Given the description of an element on the screen output the (x, y) to click on. 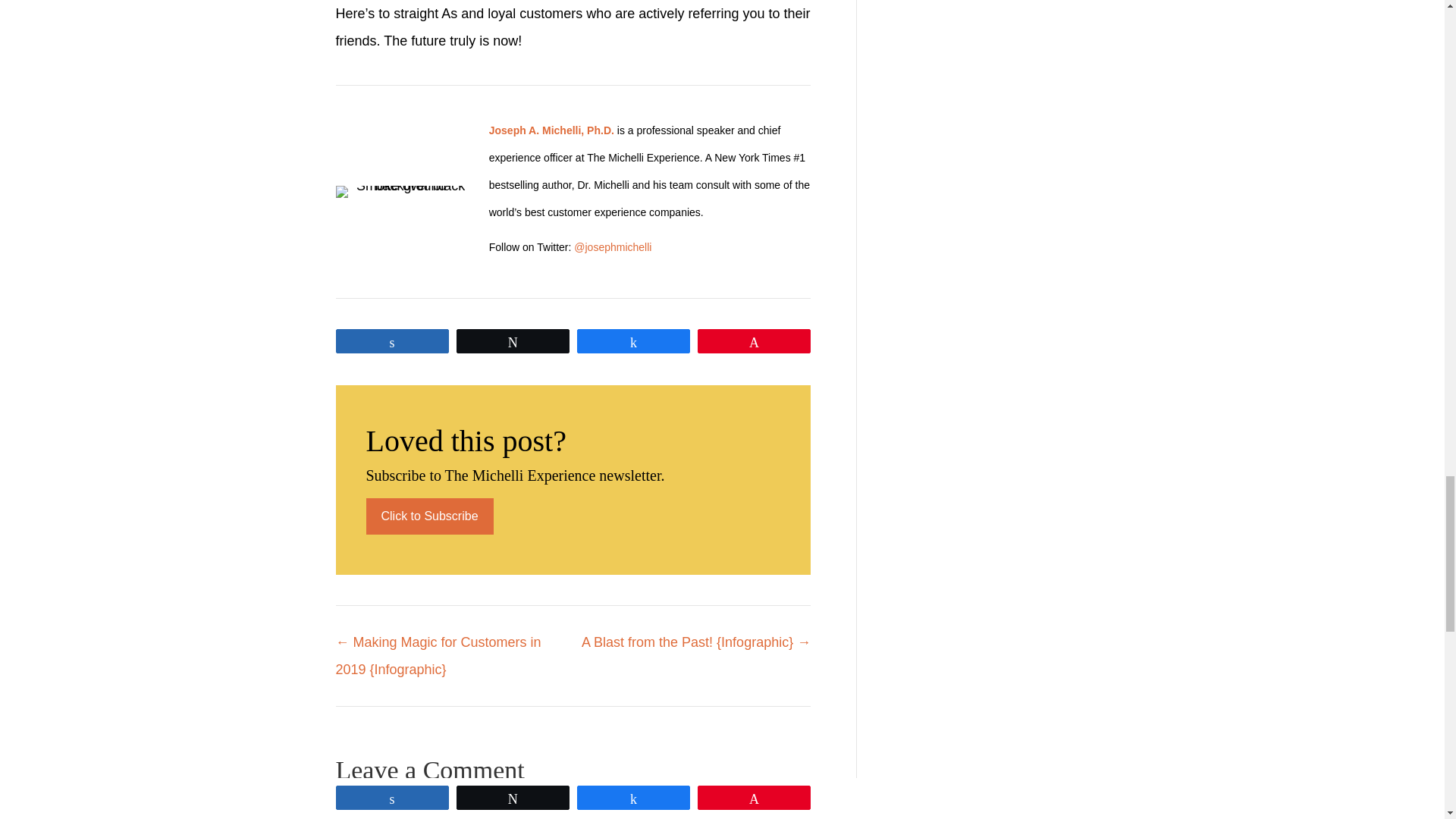
Click to Subscribe (429, 515)
Joseph A. Michelli, Ph.D. (551, 130)
Smoke over black background (403, 191)
